Given the description of an element on the screen output the (x, y) to click on. 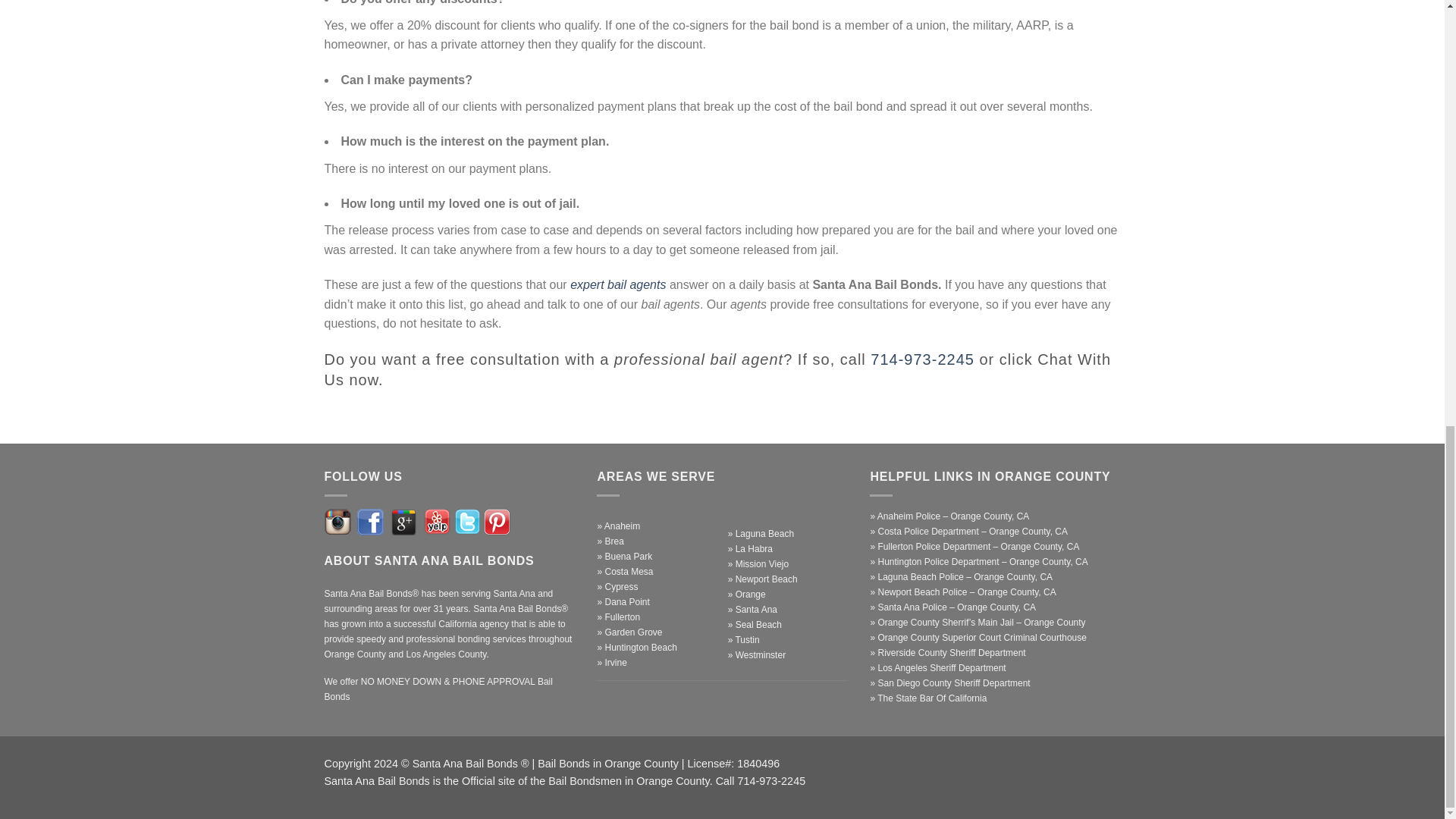
Santa Ana Bail Bonds Today for a Free Consultation (922, 359)
expert bail agents (617, 284)
714-973-2245 (922, 359)
